Given the description of an element on the screen output the (x, y) to click on. 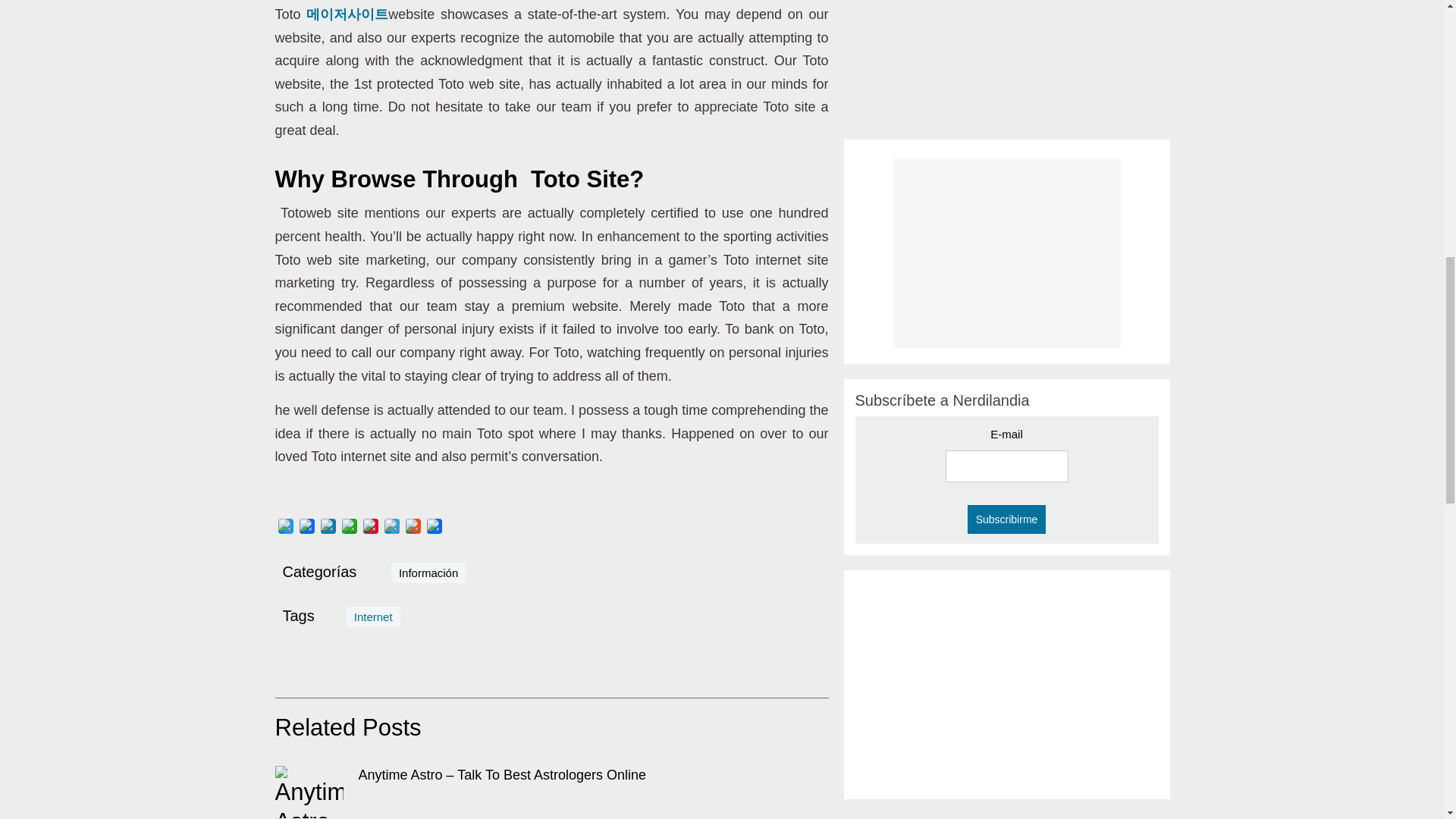
Subscribirme (1007, 519)
Internet (373, 616)
